Given the description of an element on the screen output the (x, y) to click on. 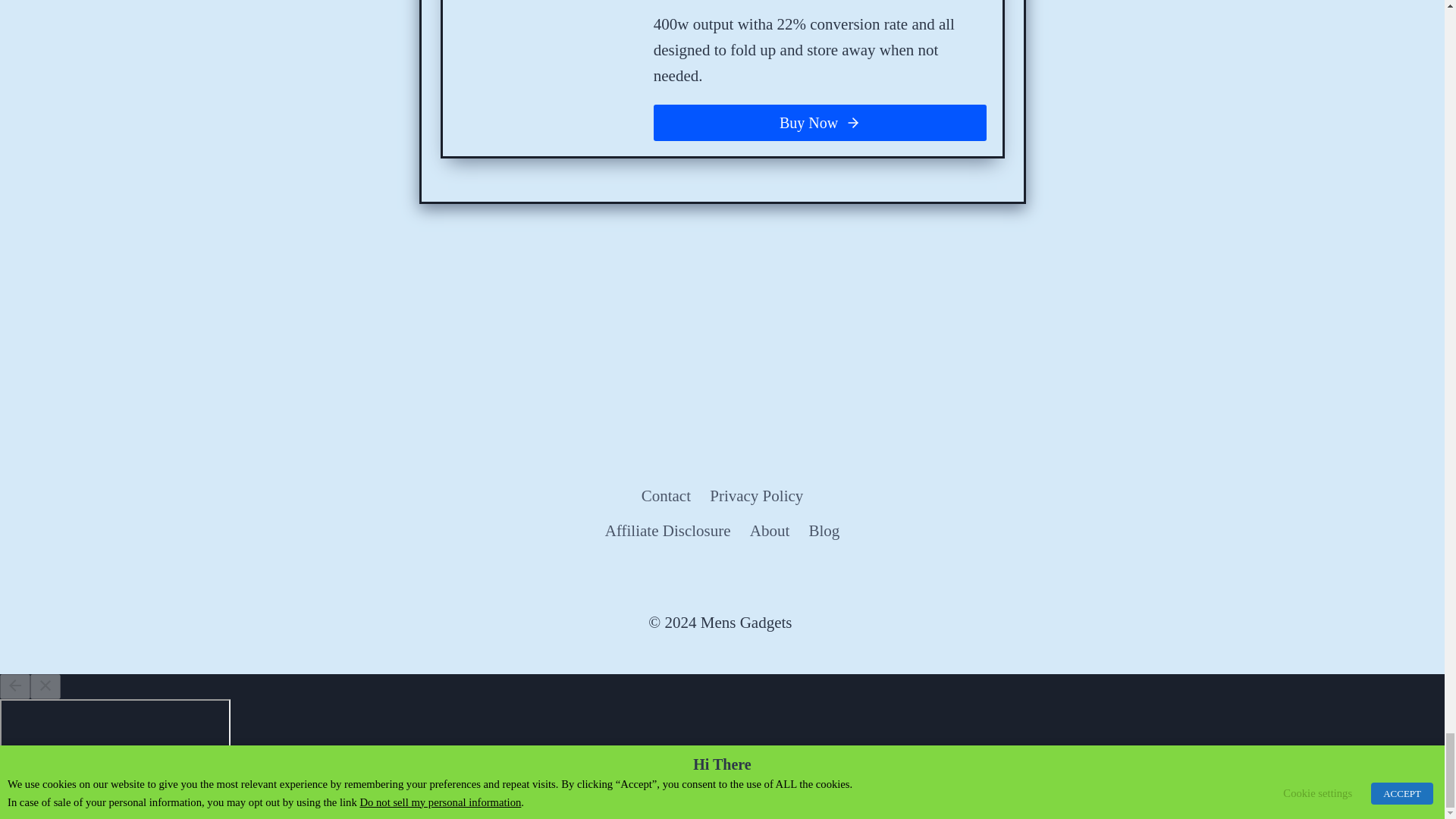
Contact (665, 495)
Buy Now (820, 122)
Affiliate Disclosure (667, 530)
Privacy Policy (756, 495)
